Given the description of an element on the screen output the (x, y) to click on. 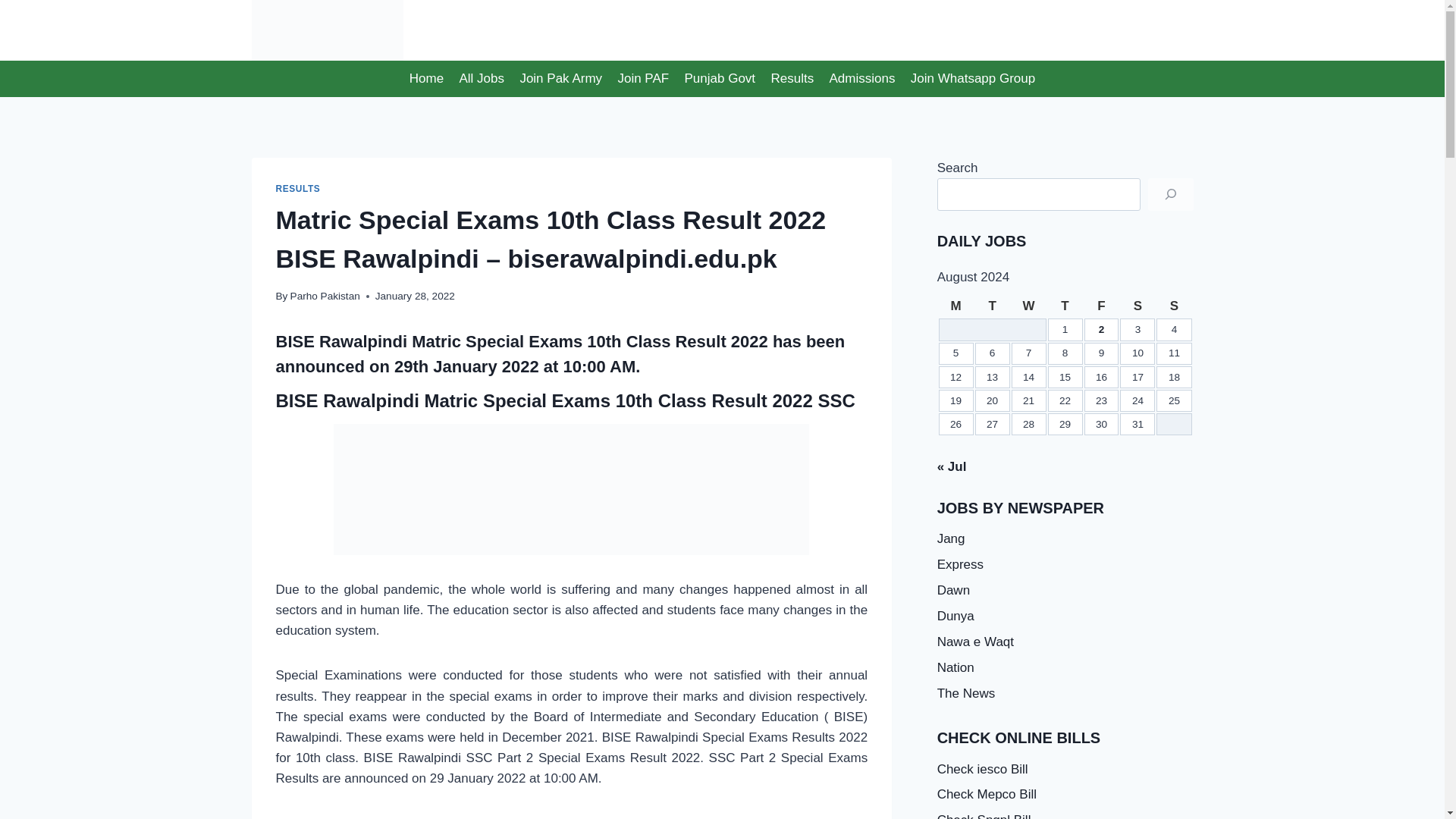
Join Pak Army (561, 78)
Results (791, 78)
Admissions (861, 78)
Friday (1101, 305)
RESULTS (298, 188)
Tuesday (992, 305)
All Jobs (481, 78)
Saturday (1136, 305)
Punjab Govt (719, 78)
Home (426, 78)
Parho Pakistan (324, 296)
Join Whatsapp Group (972, 78)
Sunday (1173, 305)
Monday (956, 305)
Thursday (1065, 305)
